Given the description of an element on the screen output the (x, y) to click on. 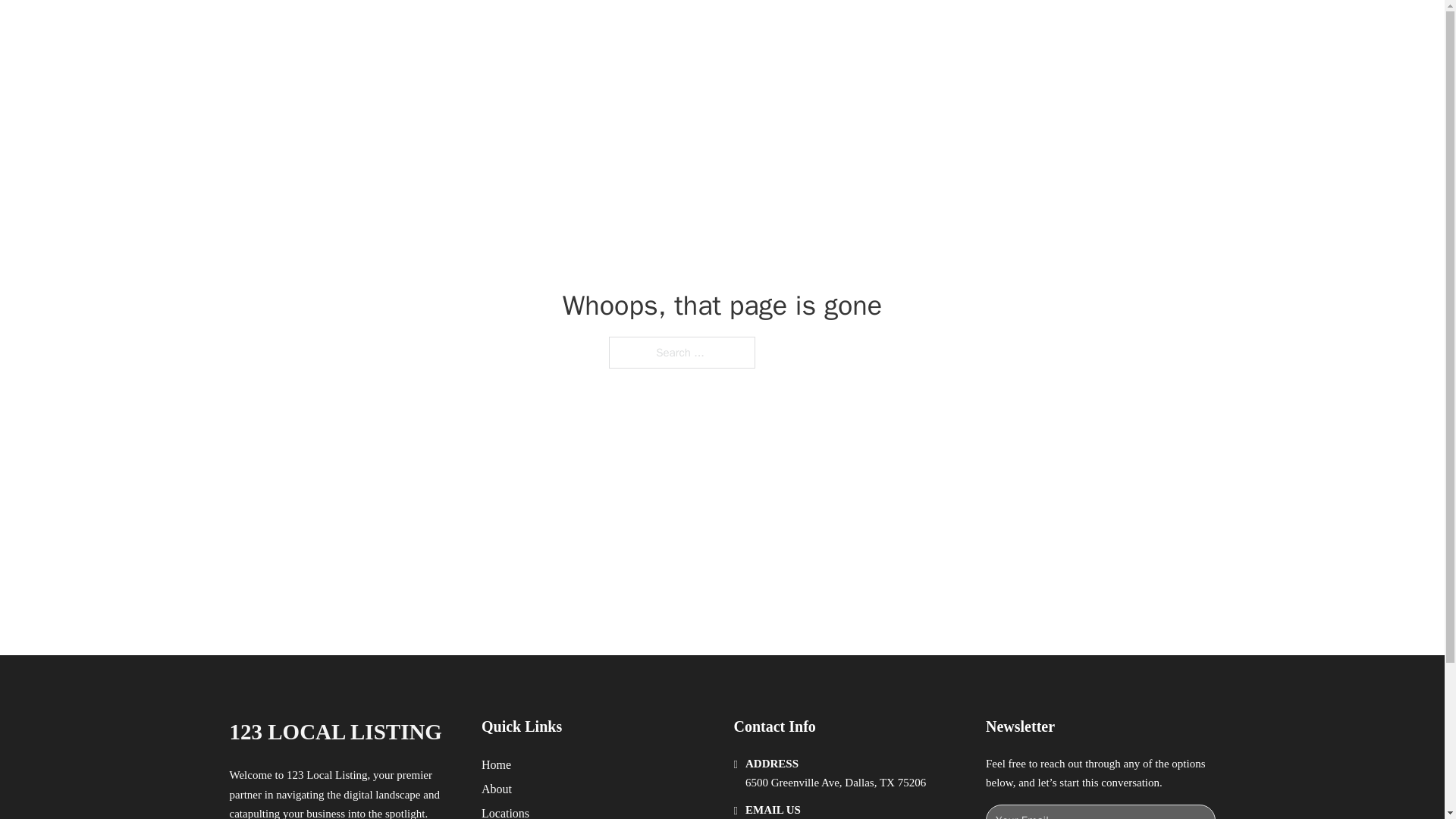
LOCATIONS (990, 29)
123 LOCAL LISTING (334, 732)
Locations (505, 811)
About (496, 788)
HOME (919, 29)
Home (496, 764)
123 LOCAL LISTING (408, 28)
